Given the description of an element on the screen output the (x, y) to click on. 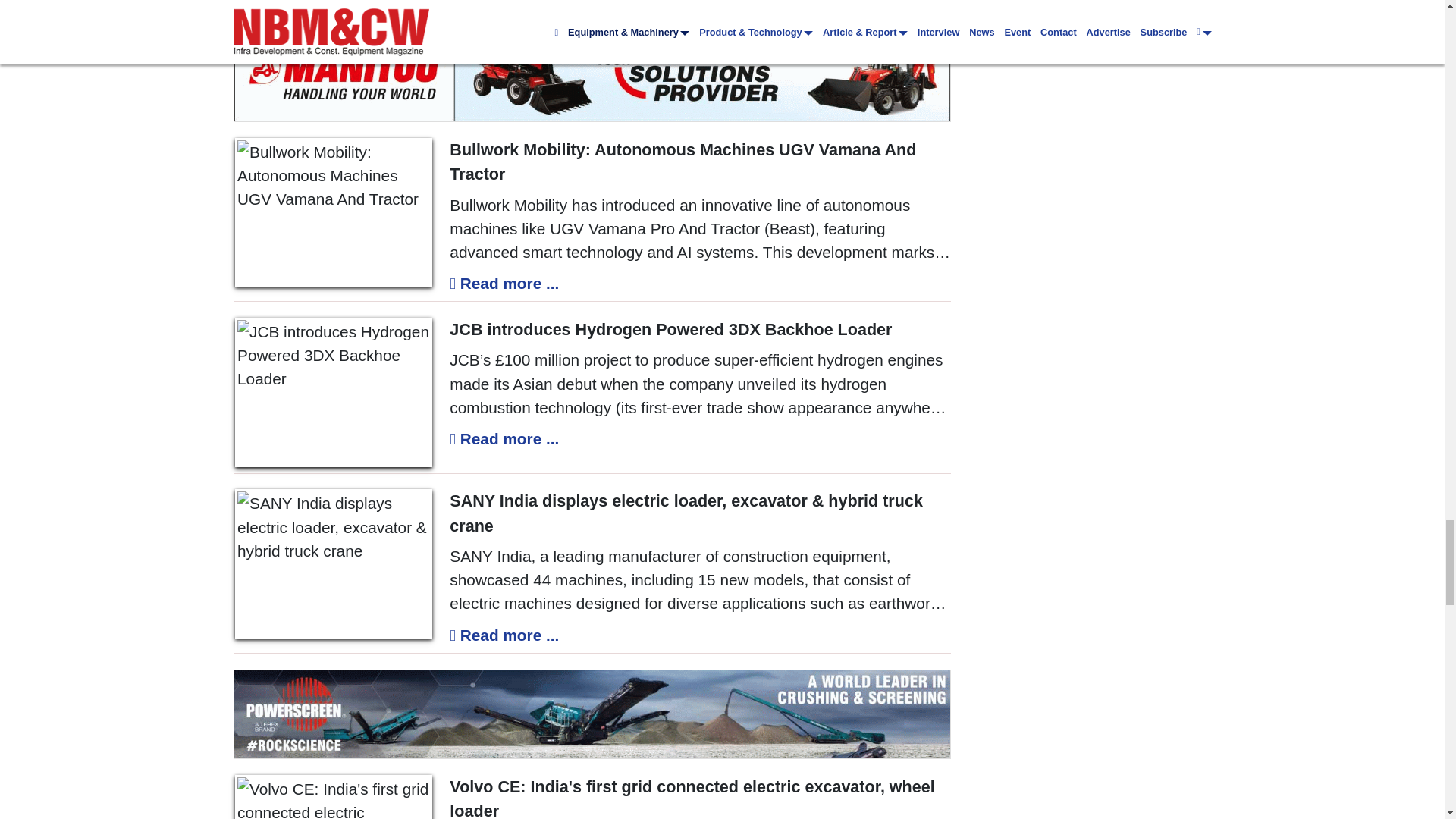
Manitou Handling Your World (591, 77)
